Given the description of an element on the screen output the (x, y) to click on. 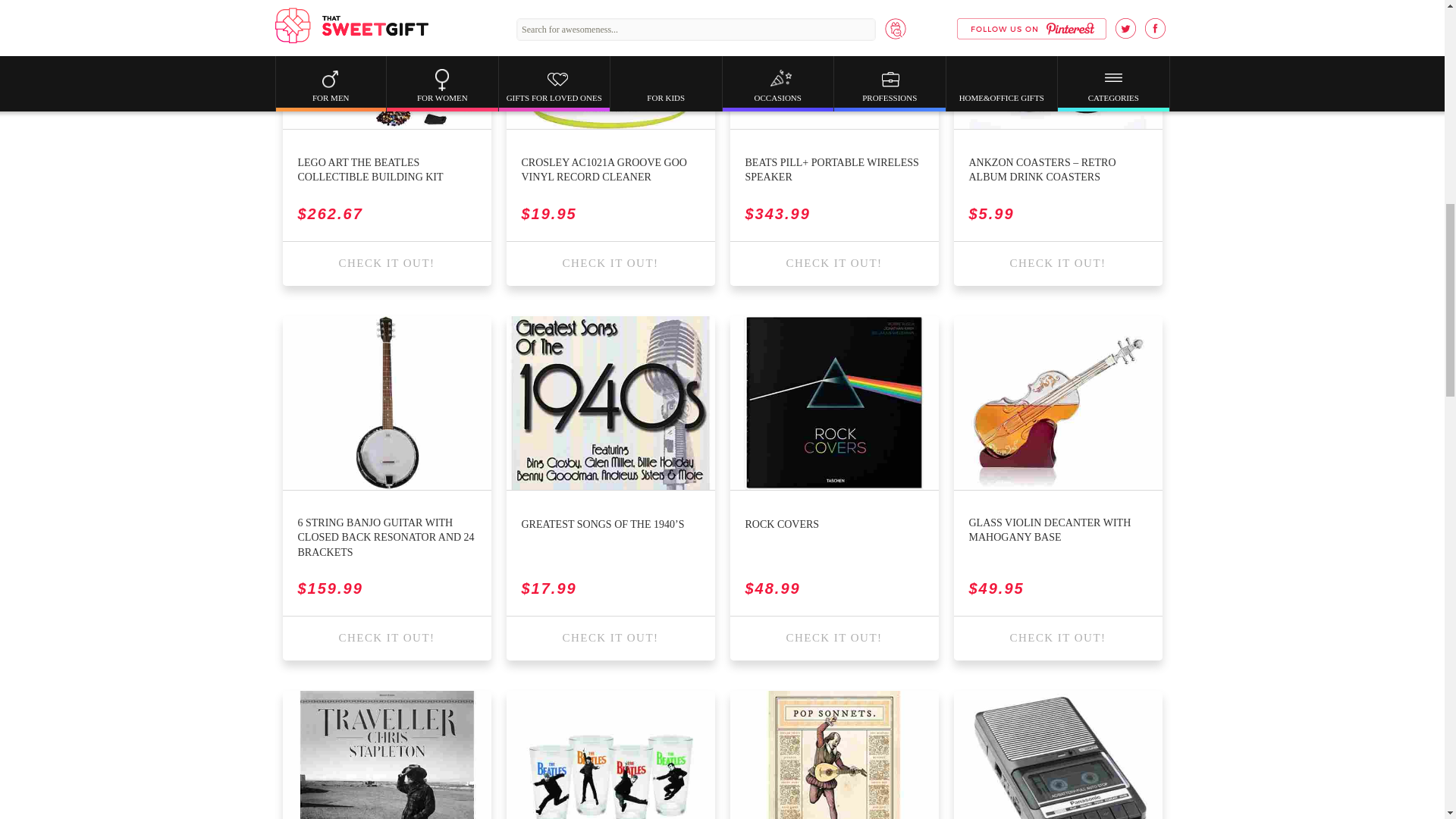
LEGO ART THE BEATLES COLLECTIBLE BUILDING KIT (386, 170)
GLASS VIOLIN DECANTER WITH MAHOGANY BASE (1058, 530)
CROSLEY AC1021A GROOVE GOO VINYL RECORD CLEANER (610, 170)
ROCK COVERS (781, 524)
